Given the description of an element on the screen output the (x, y) to click on. 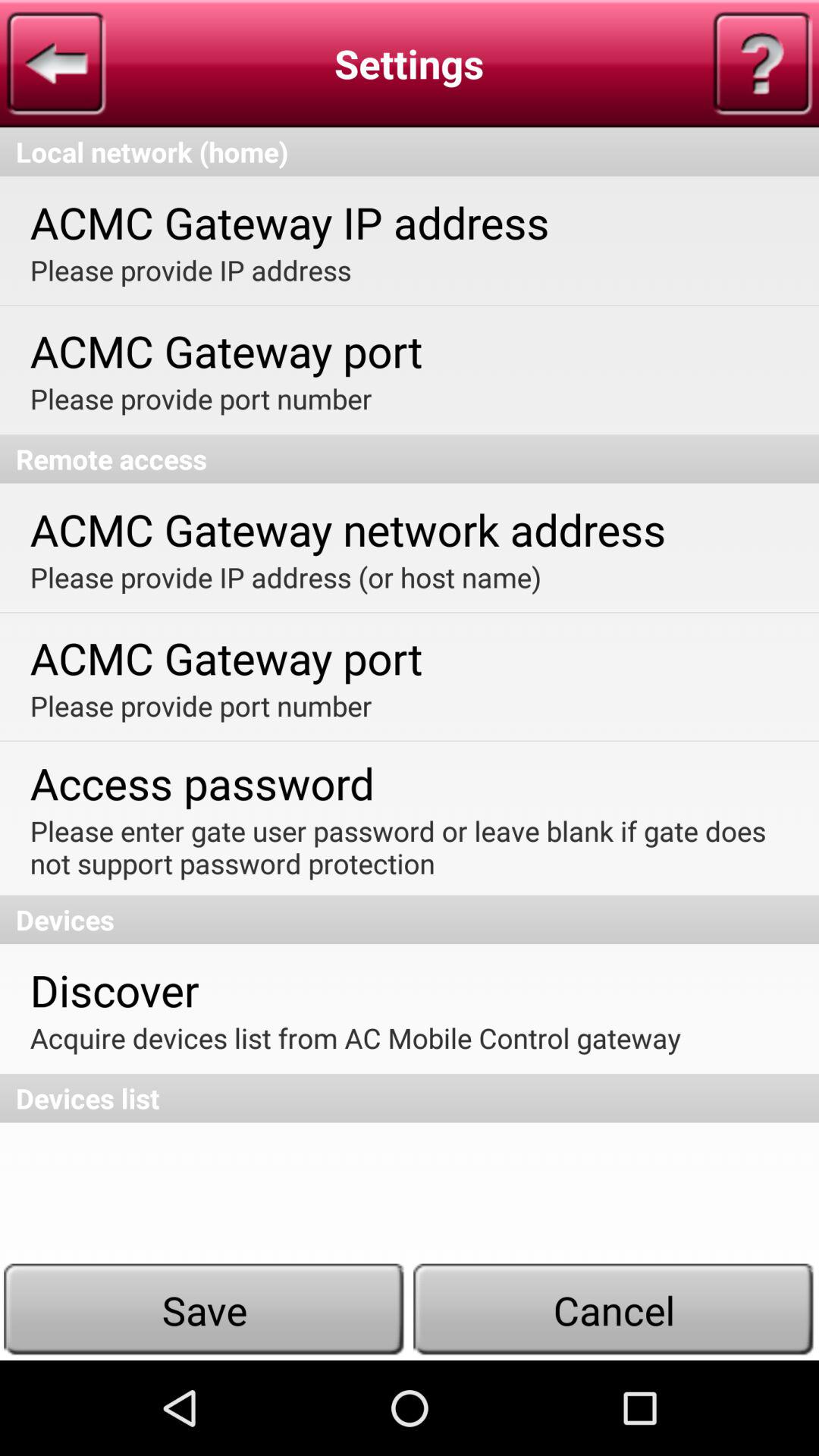
launch item below please provide port (409, 458)
